Given the description of an element on the screen output the (x, y) to click on. 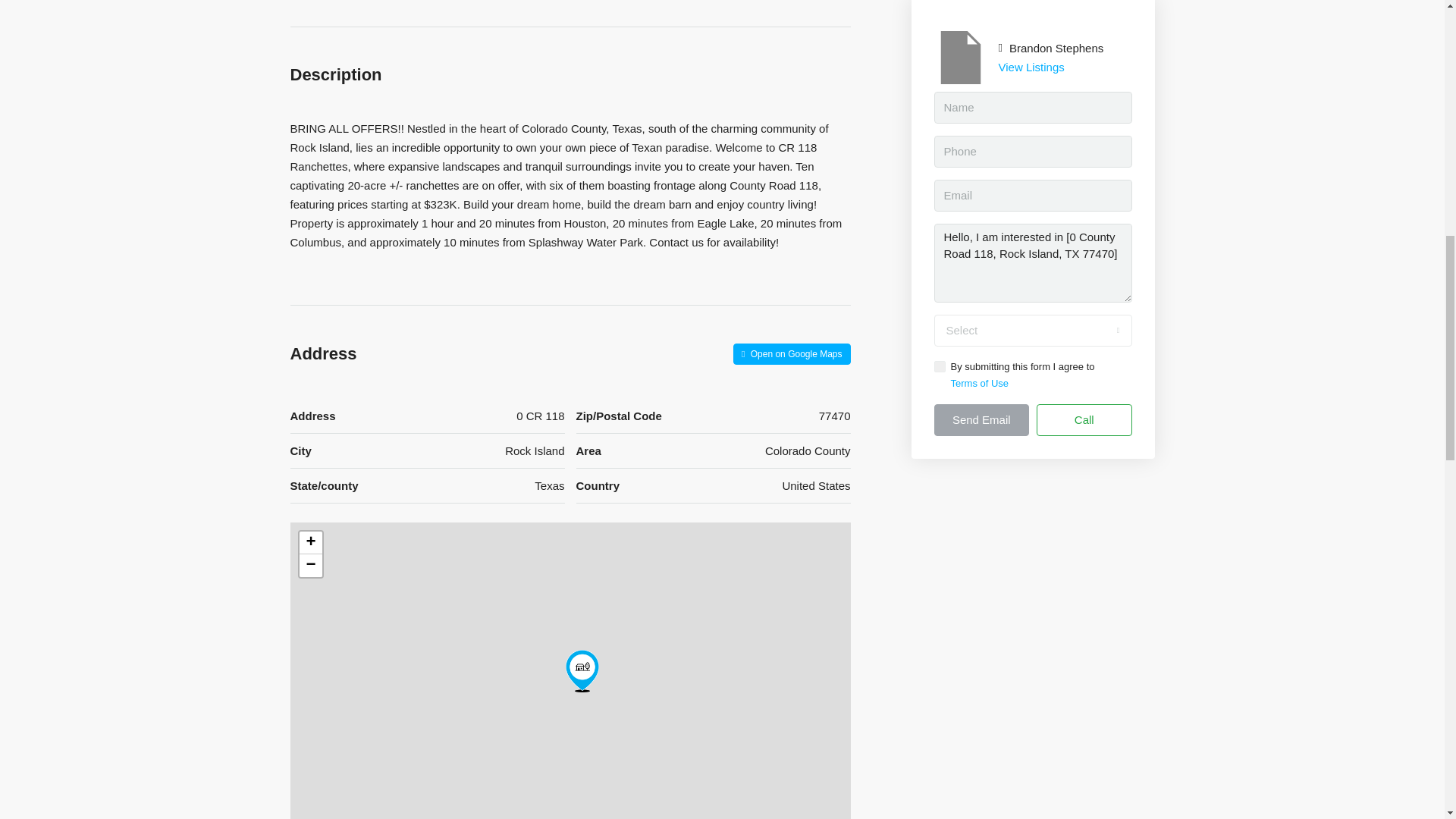
0 County Road 118, Rock Island, TX 77470 (582, 671)
Zoom in (309, 542)
Select (1033, 330)
Zoom out (309, 565)
